Given the description of an element on the screen output the (x, y) to click on. 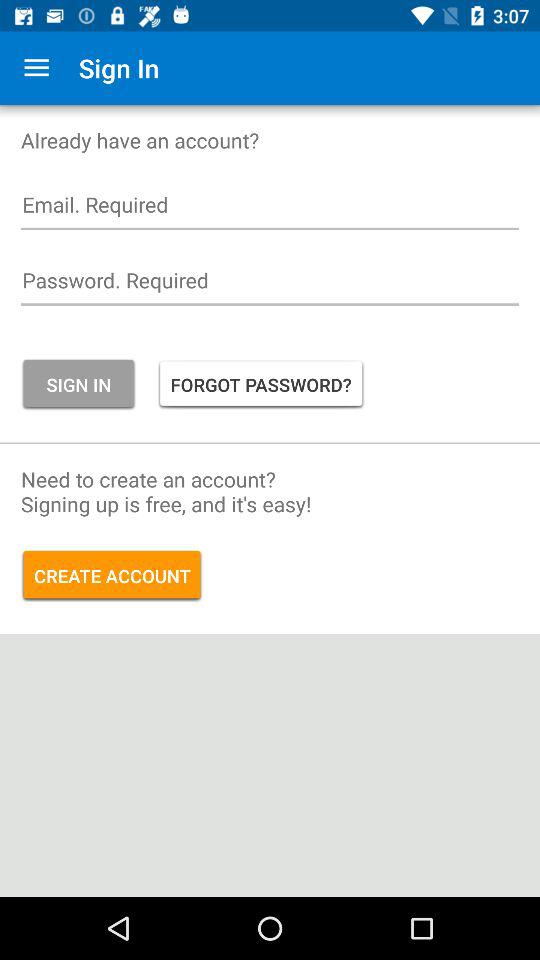
enter email address to login (270, 209)
